Given the description of an element on the screen output the (x, y) to click on. 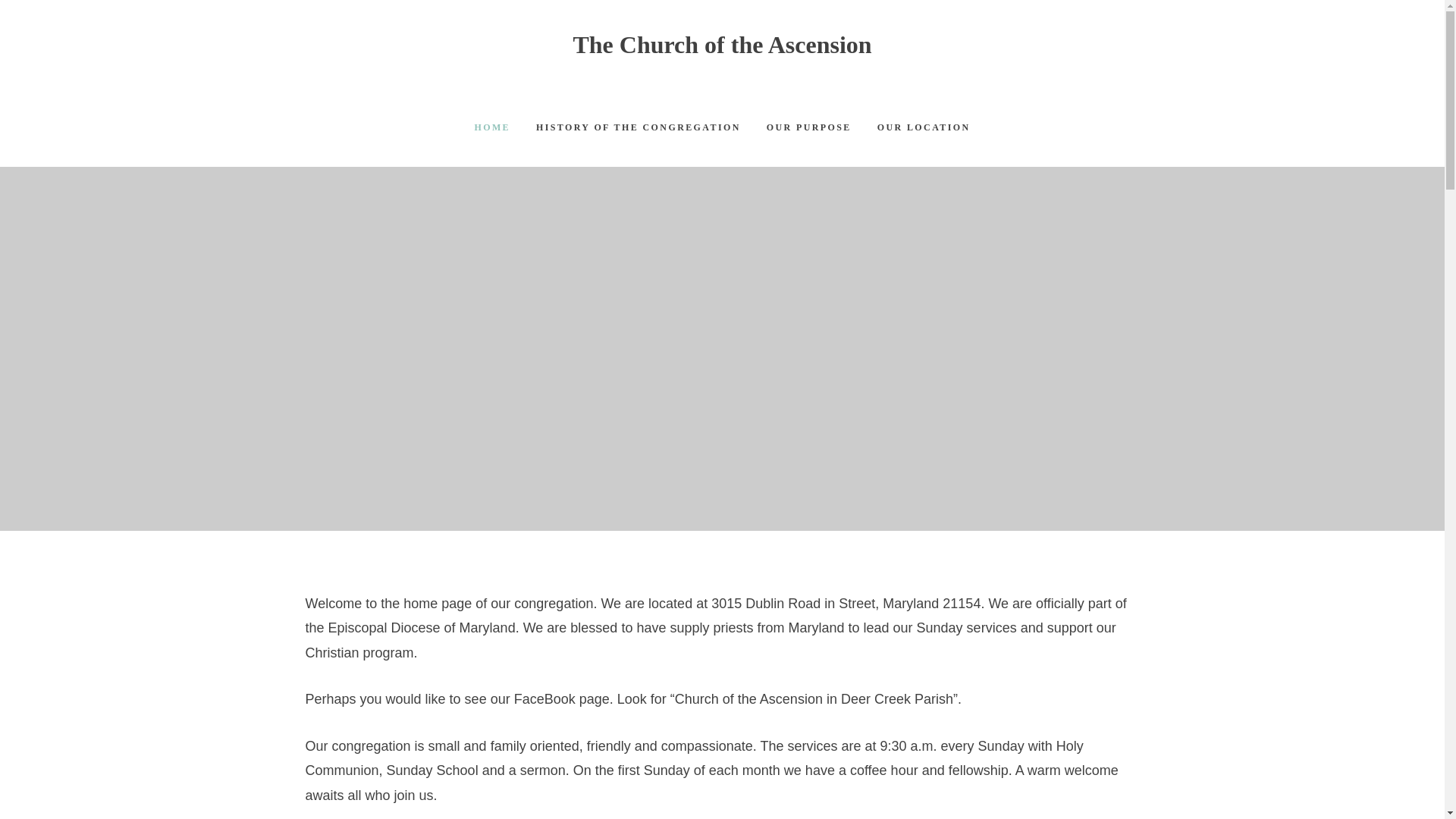
OUR PURPOSE (809, 128)
The Church of the Ascension (721, 44)
OUR LOCATION (923, 128)
HISTORY OF THE CONGREGATION (638, 128)
